Given the description of an element on the screen output the (x, y) to click on. 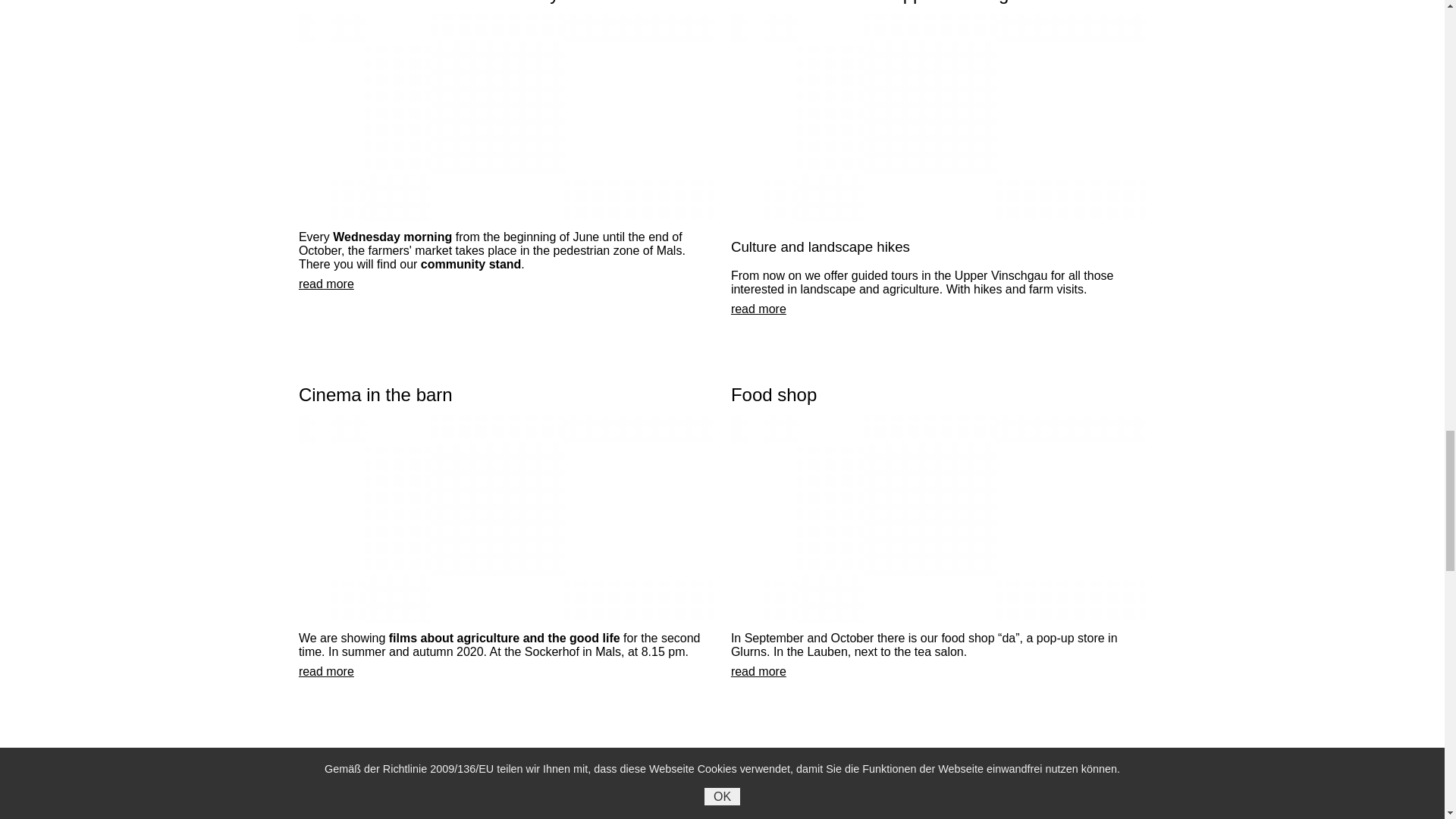
StodlKino TheresaT Sockerhof Mals im Obervinschgau (505, 518)
Lebensmittel-Laden-da (937, 518)
Gemeinschaftsstand (505, 117)
Sommerfest 2019 (505, 798)
